Given the description of an element on the screen output the (x, y) to click on. 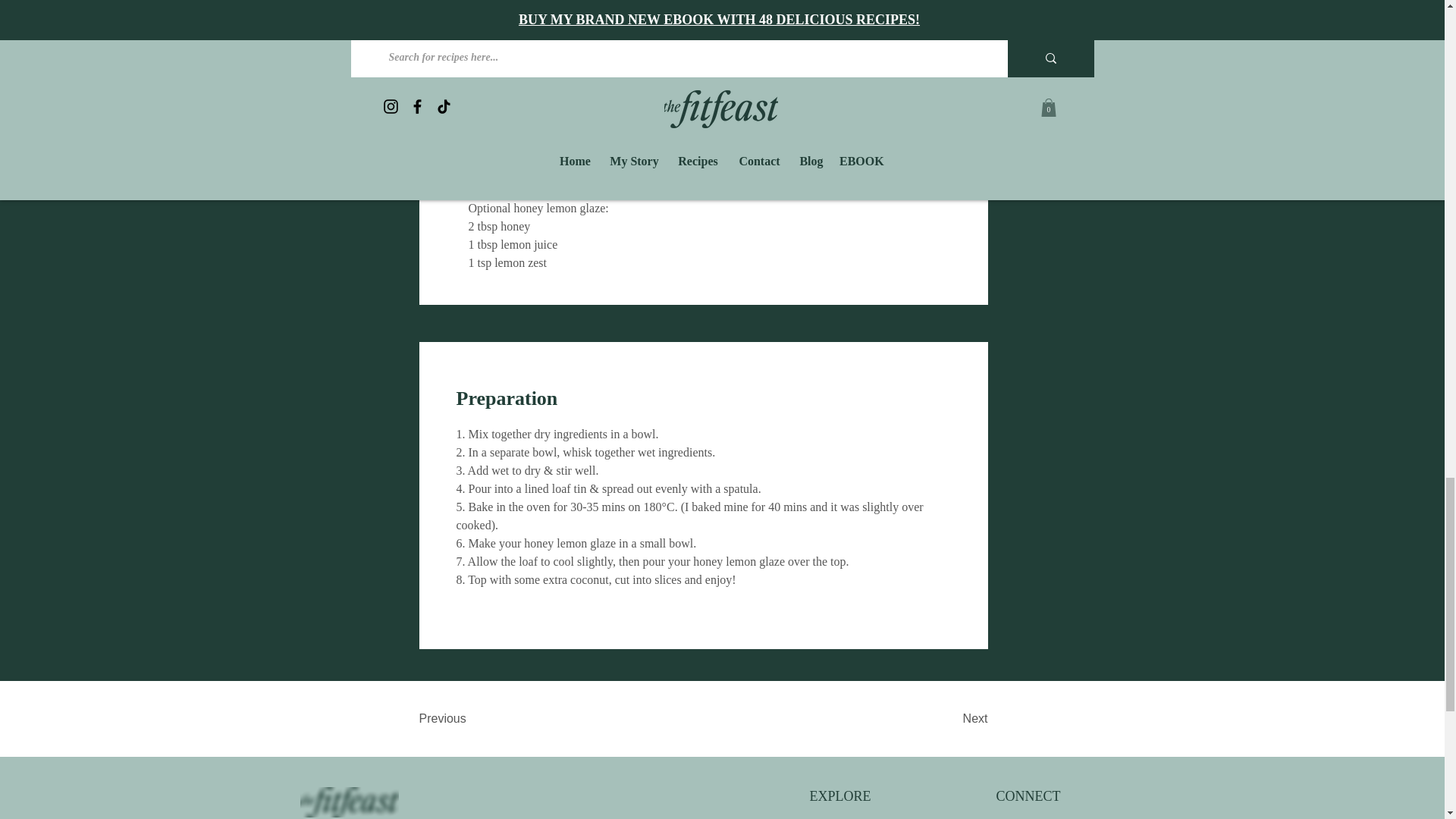
Next (949, 718)
Home (842, 818)
Previous (467, 718)
